Given the description of an element on the screen output the (x, y) to click on. 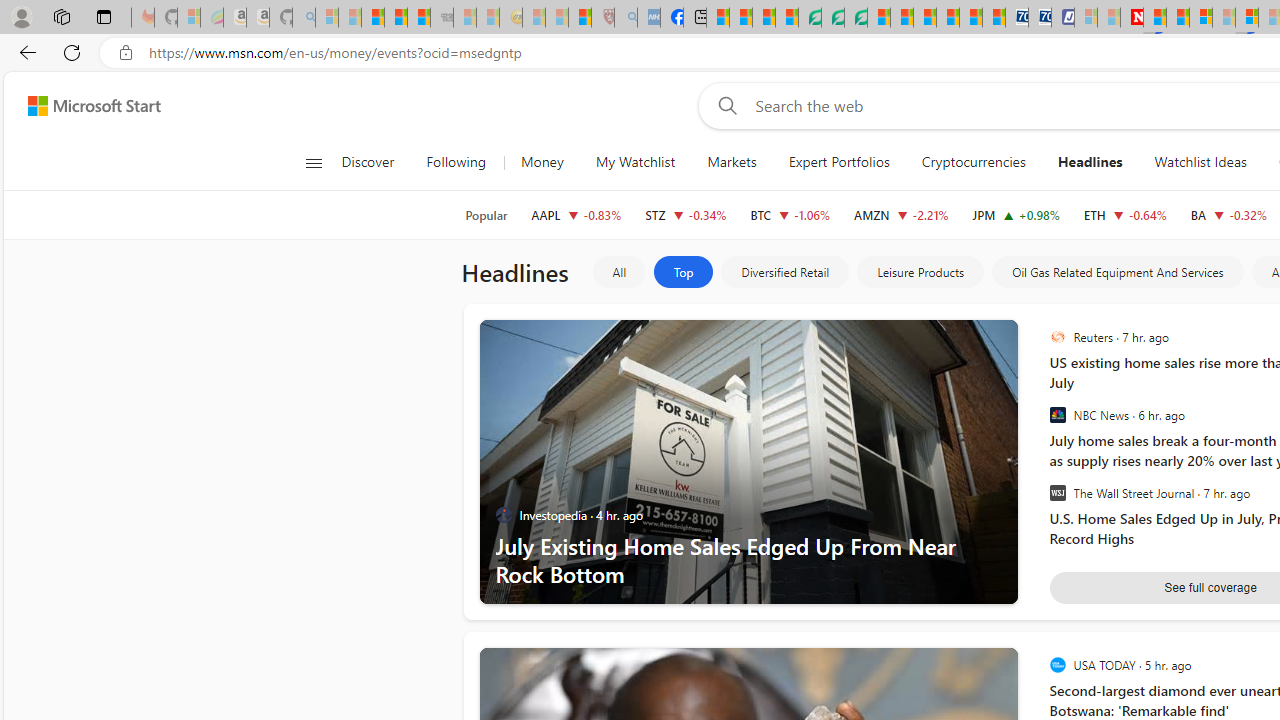
Microsoft Start - Sleeping (1108, 17)
